Given the description of an element on the screen output the (x, y) to click on. 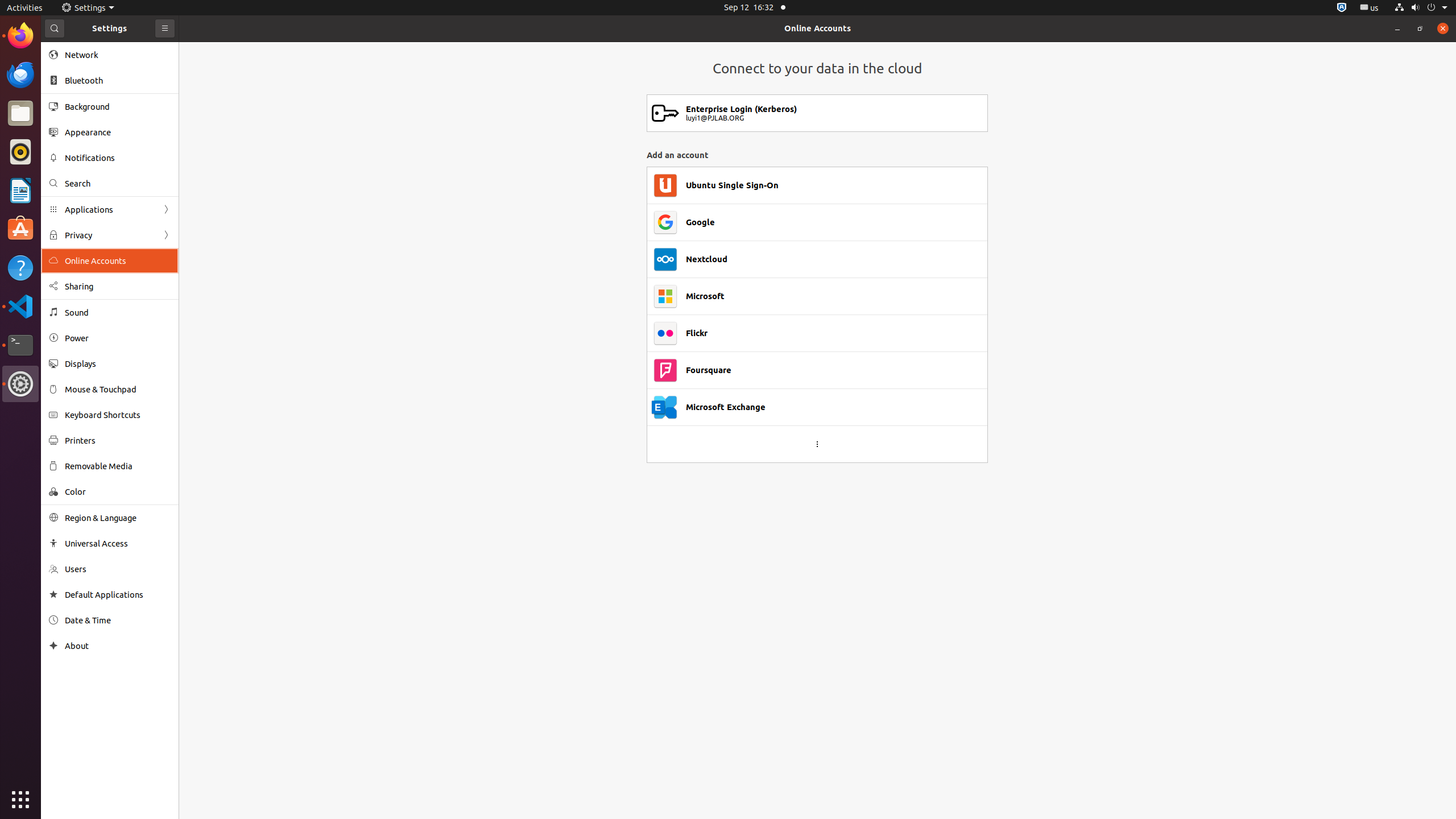
Date & Time Element type: label (117, 620)
Power Element type: label (117, 337)
Default Applications Element type: label (117, 594)
